Given the description of an element on the screen output the (x, y) to click on. 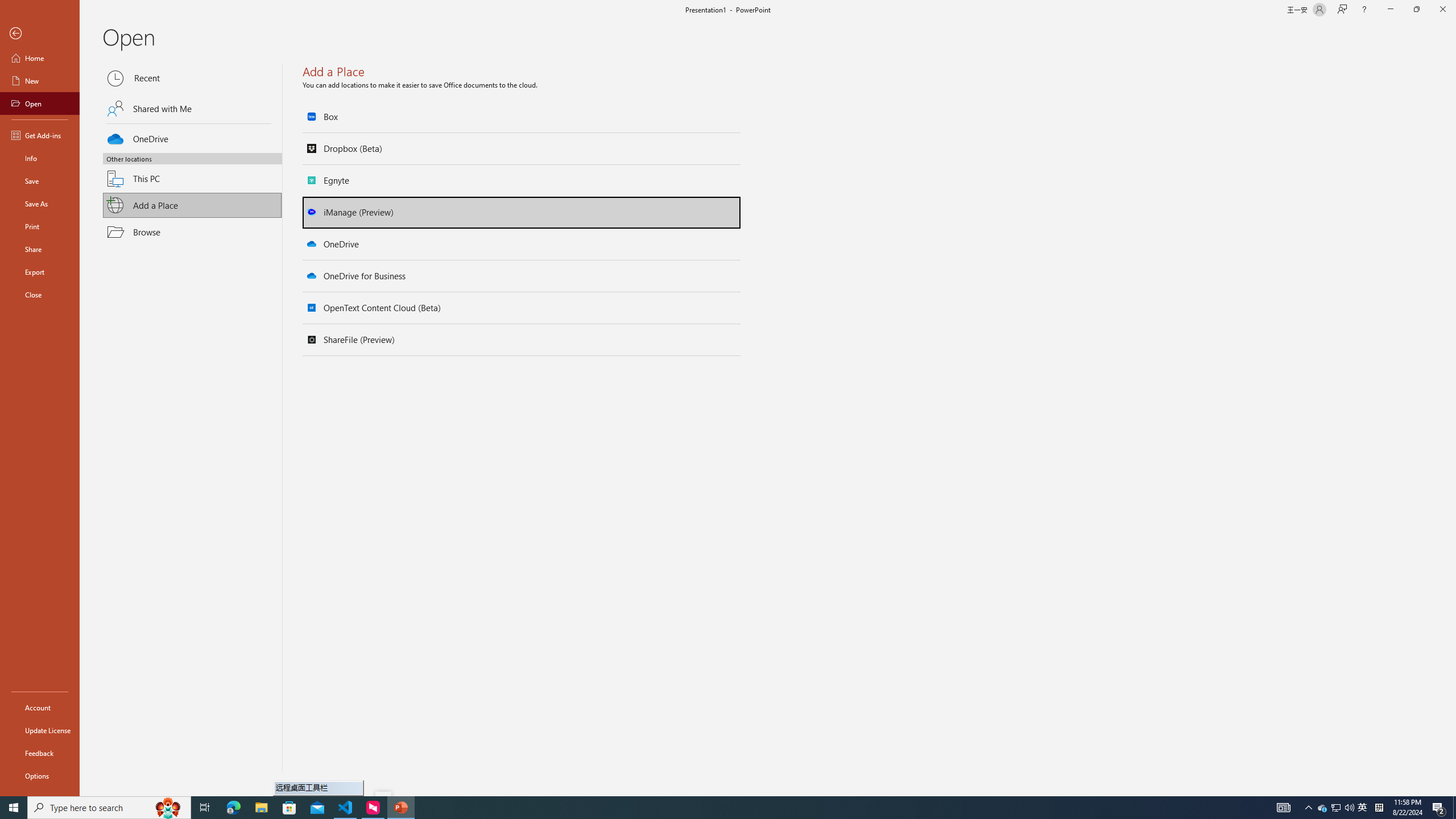
OneDrive (192, 136)
OneDrive for Business (521, 276)
Add a Place (192, 204)
Get Add-ins (40, 134)
